Given the description of an element on the screen output the (x, y) to click on. 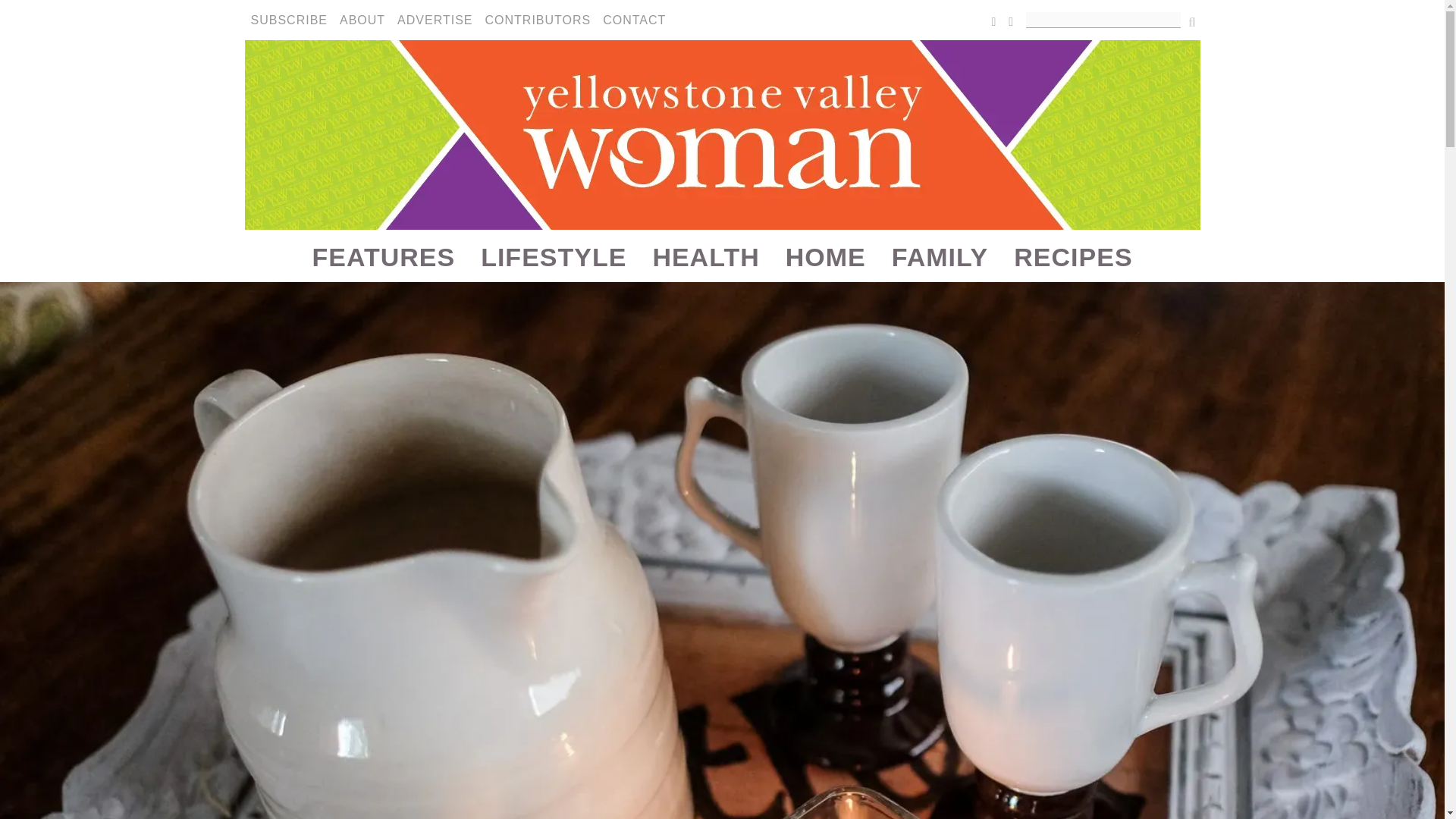
ABOUT (362, 20)
SUBSCRIBE (288, 20)
FAMILY (940, 257)
CONTACT (633, 20)
HEALTH (705, 257)
CONTRIBUTORS (537, 20)
ADVERTISE (435, 20)
FEATURES (382, 257)
LIFESTYLE (553, 257)
HOME (826, 257)
